Given the description of an element on the screen output the (x, y) to click on. 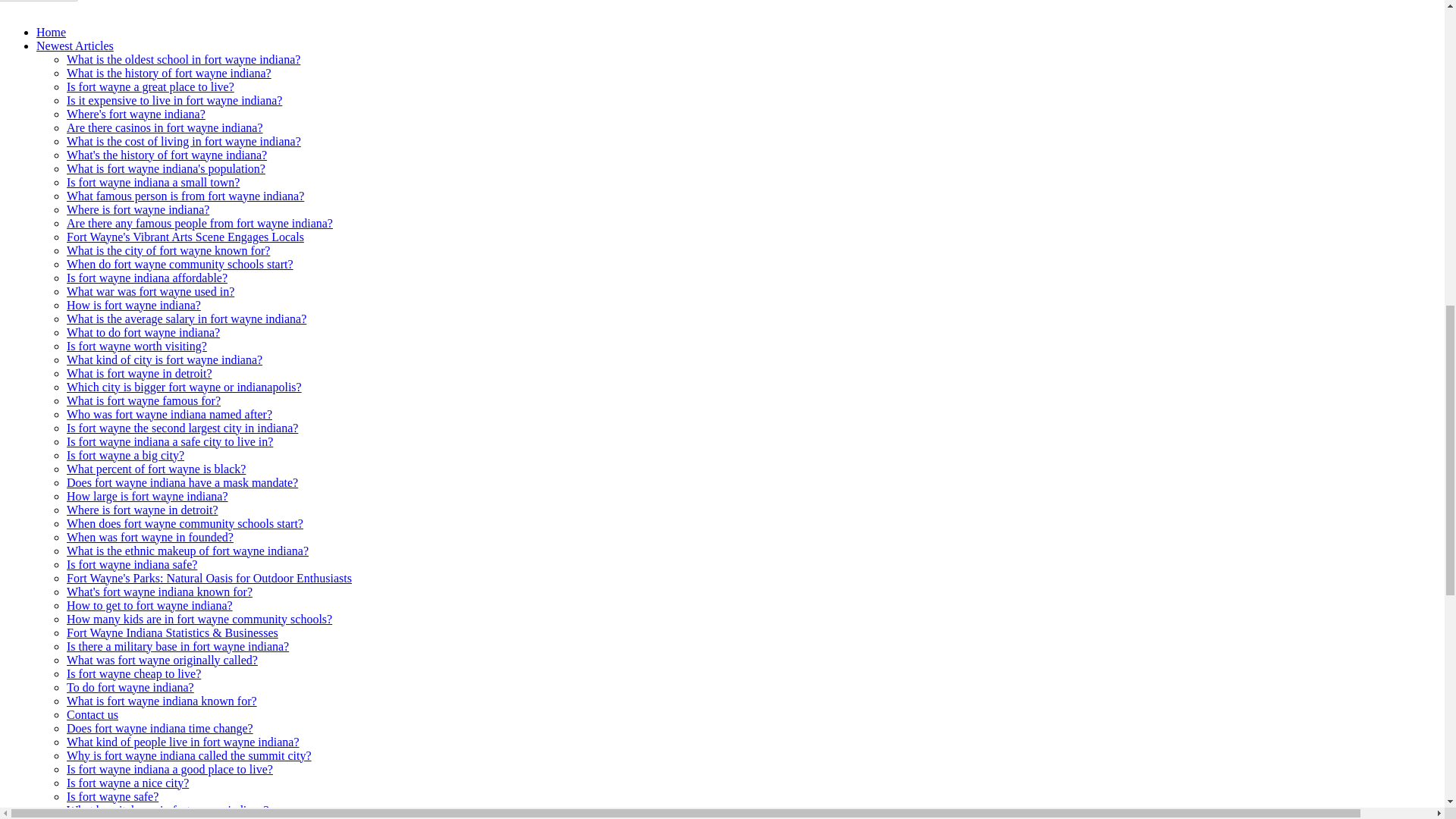
Is fort wayne indiana affordable? (146, 277)
What famous person is from fort wayne indiana? (185, 195)
Is fort wayne worth visiting? (136, 345)
Are there casinos in fort wayne indiana? (164, 127)
What to do fort wayne indiana? (142, 332)
Is fort wayne indiana a small town? (153, 182)
What is the cost of living in fort wayne indiana? (183, 141)
What is the oldest school in fort wayne indiana? (182, 59)
Fort Wayne's Vibrant Arts Scene Engages Locals (185, 236)
Leave Message (39, 0)
Where's fort wayne indiana? (135, 113)
What is the history of fort wayne indiana? (168, 72)
What kind of city is fort wayne indiana? (164, 359)
What is fort wayne indiana's population? (165, 168)
Where is fort wayne indiana? (137, 209)
